Given the description of an element on the screen output the (x, y) to click on. 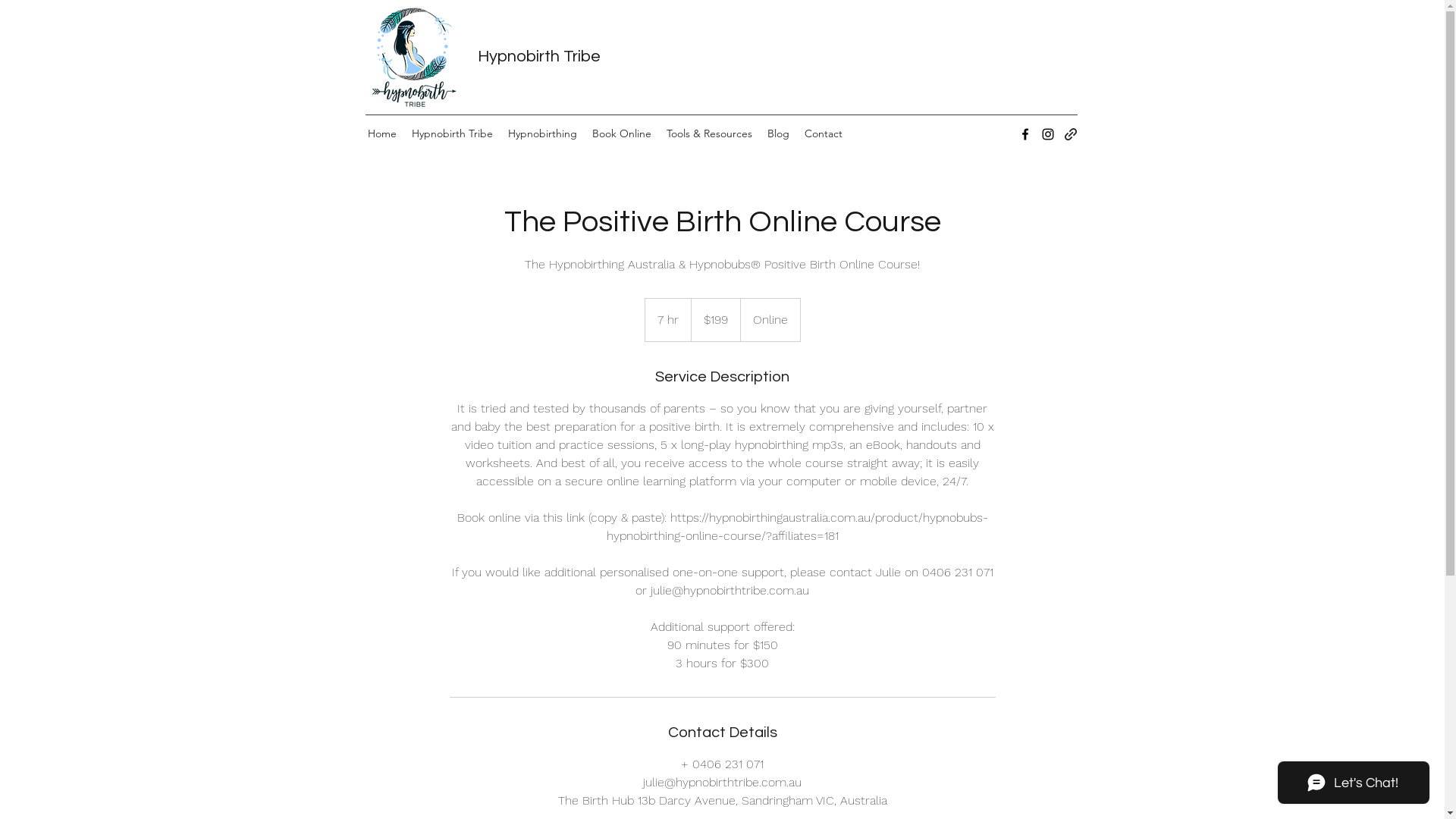
Home Element type: text (381, 133)
Tools & Resources Element type: text (708, 133)
Hypnobirth Tribe Element type: text (451, 133)
Hypnobirthing Element type: text (542, 133)
Book Online Element type: text (620, 133)
Contact Element type: text (822, 133)
Blog Element type: text (778, 133)
